Given the description of an element on the screen output the (x, y) to click on. 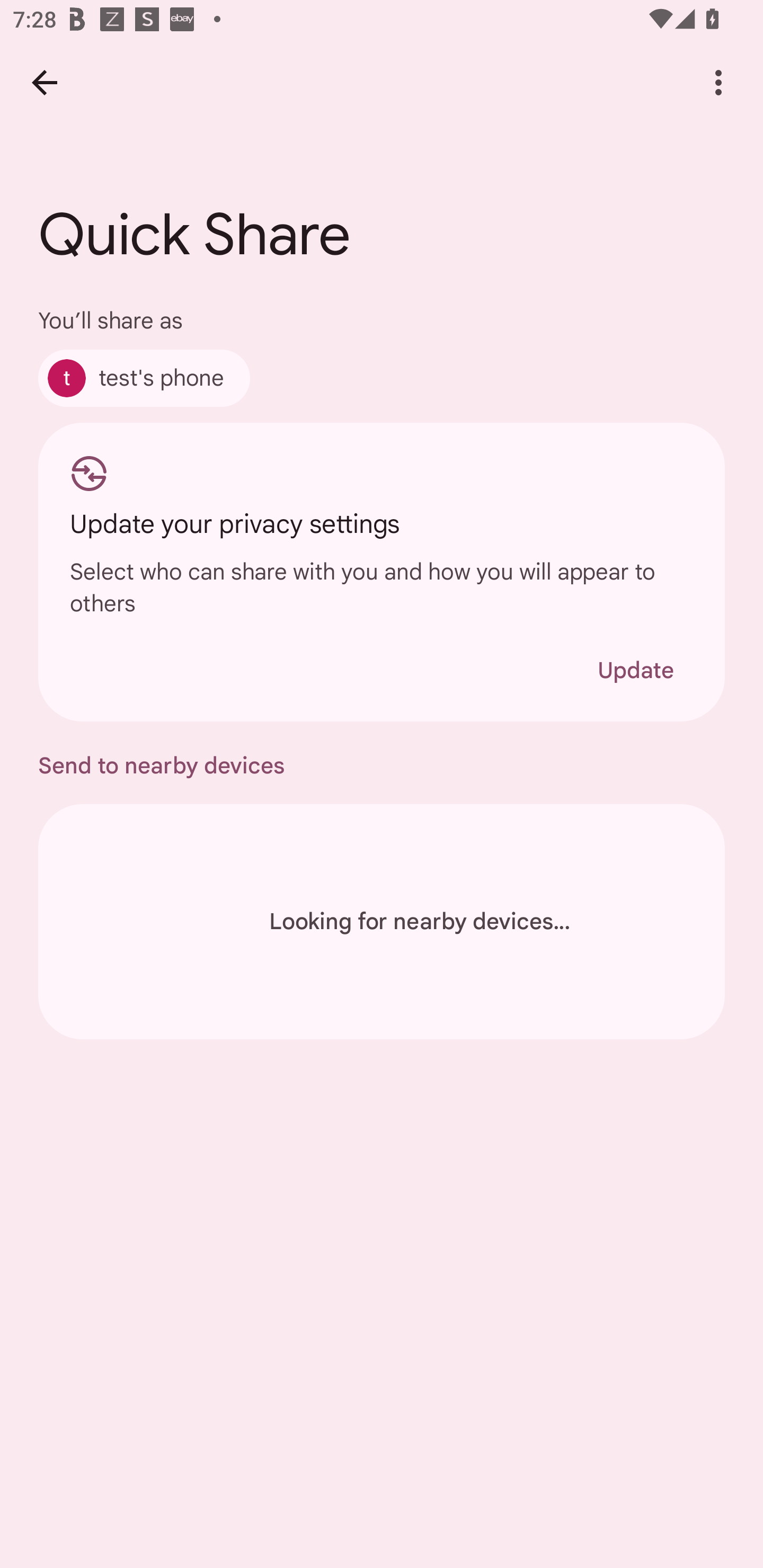
Back (44, 81)
More (718, 81)
test's phone (144, 378)
Update (635, 669)
